Given the description of an element on the screen output the (x, y) to click on. 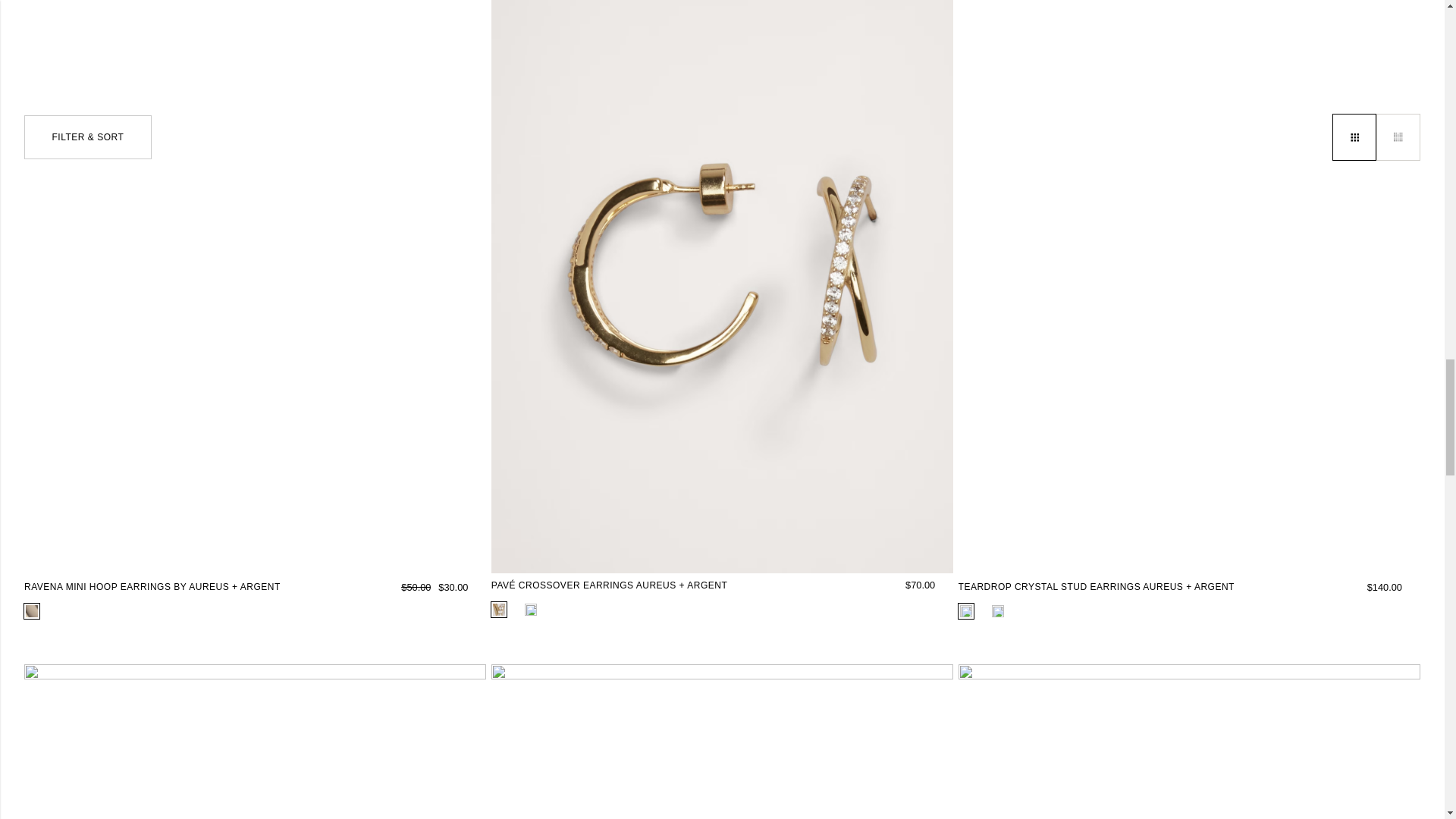
silver (530, 609)
silver (31, 611)
gold (499, 609)
